Given the description of an element on the screen output the (x, y) to click on. 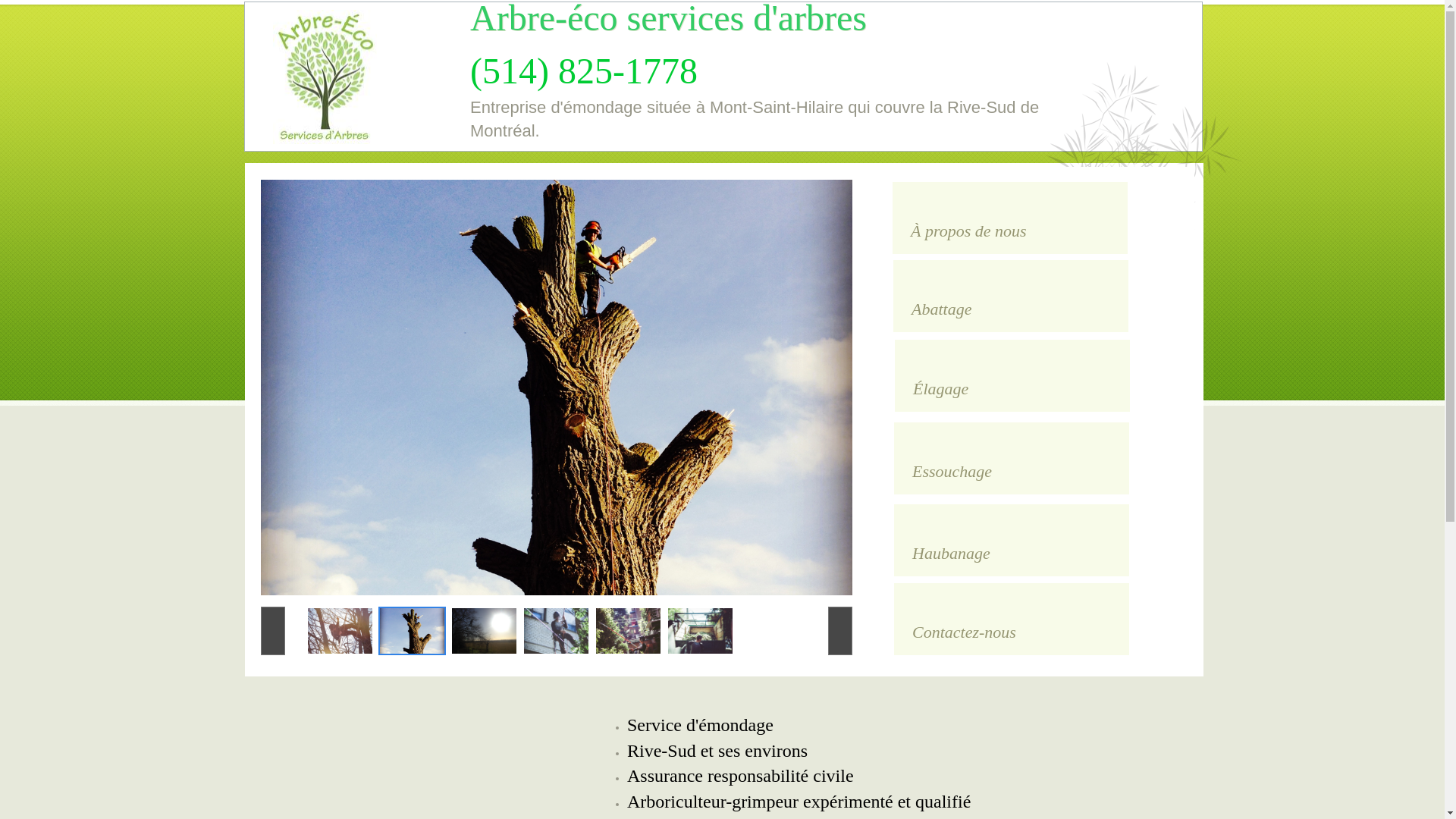
Contactez-nous Element type: text (1011, 619)
Haubanage Element type: text (1011, 540)
Abattage Element type: text (1010, 296)
Essouchage Element type: text (1011, 458)
